Given the description of an element on the screen output the (x, y) to click on. 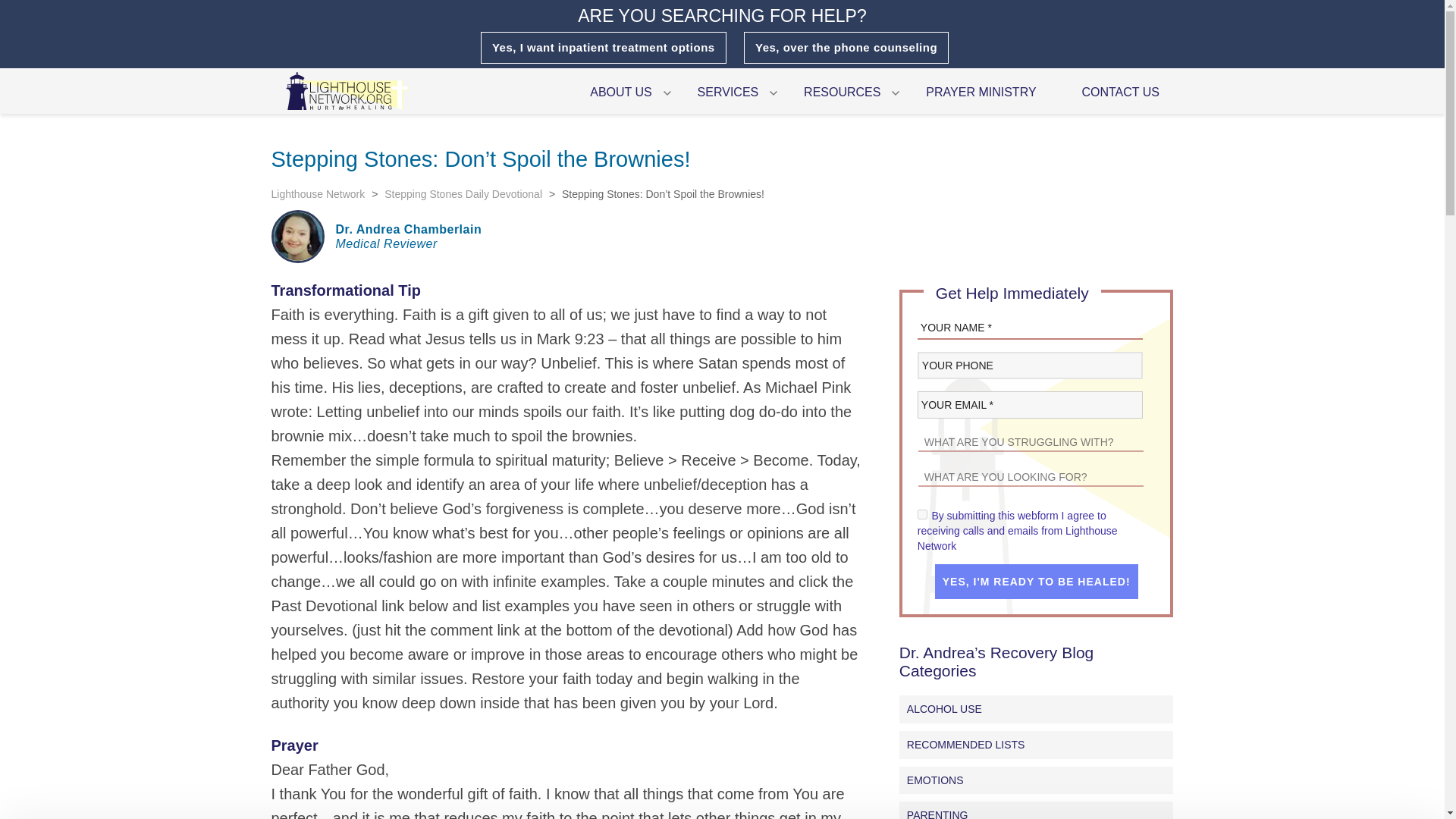
Yes, I'm ready to be healed! (1036, 581)
1 (922, 514)
Go to Lighthouse Network. (317, 193)
